Given the description of an element on the screen output the (x, y) to click on. 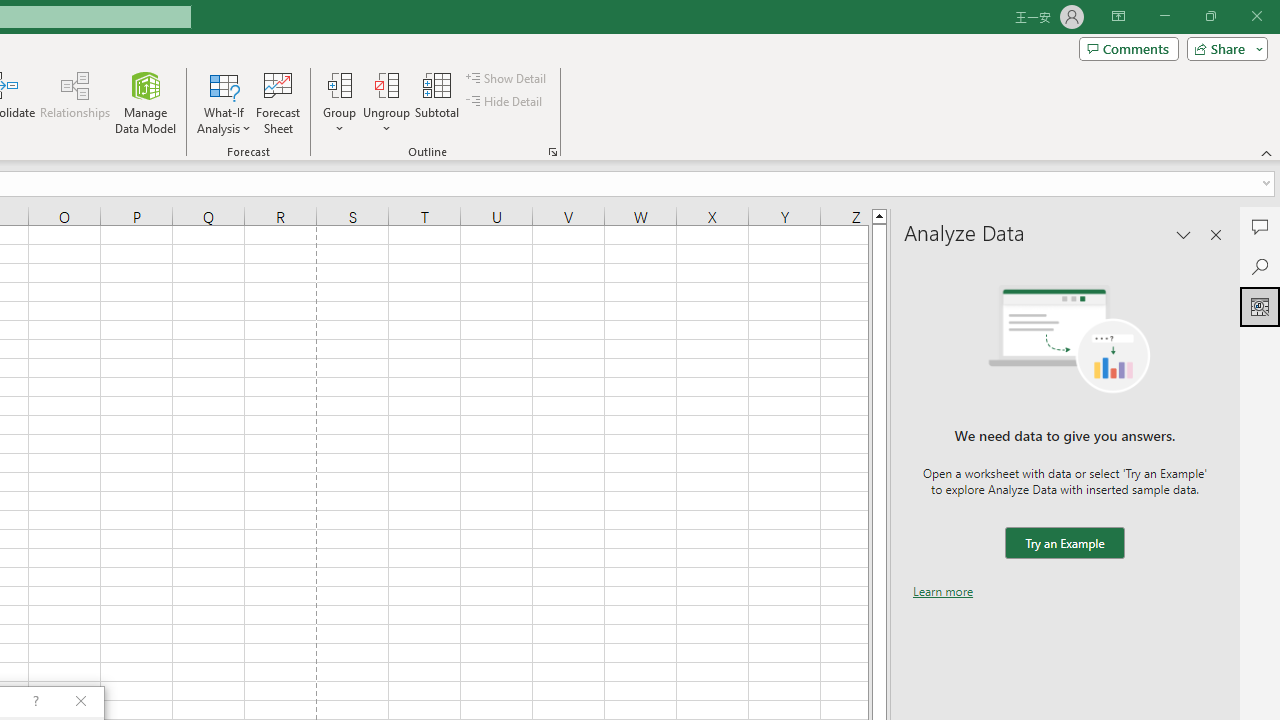
Relationships (75, 102)
Learn more (943, 591)
Forecast Sheet (278, 102)
Analyze Data (1260, 306)
Close pane (1215, 234)
Search (1260, 266)
Restore Down (1210, 16)
